Given the description of an element on the screen output the (x, y) to click on. 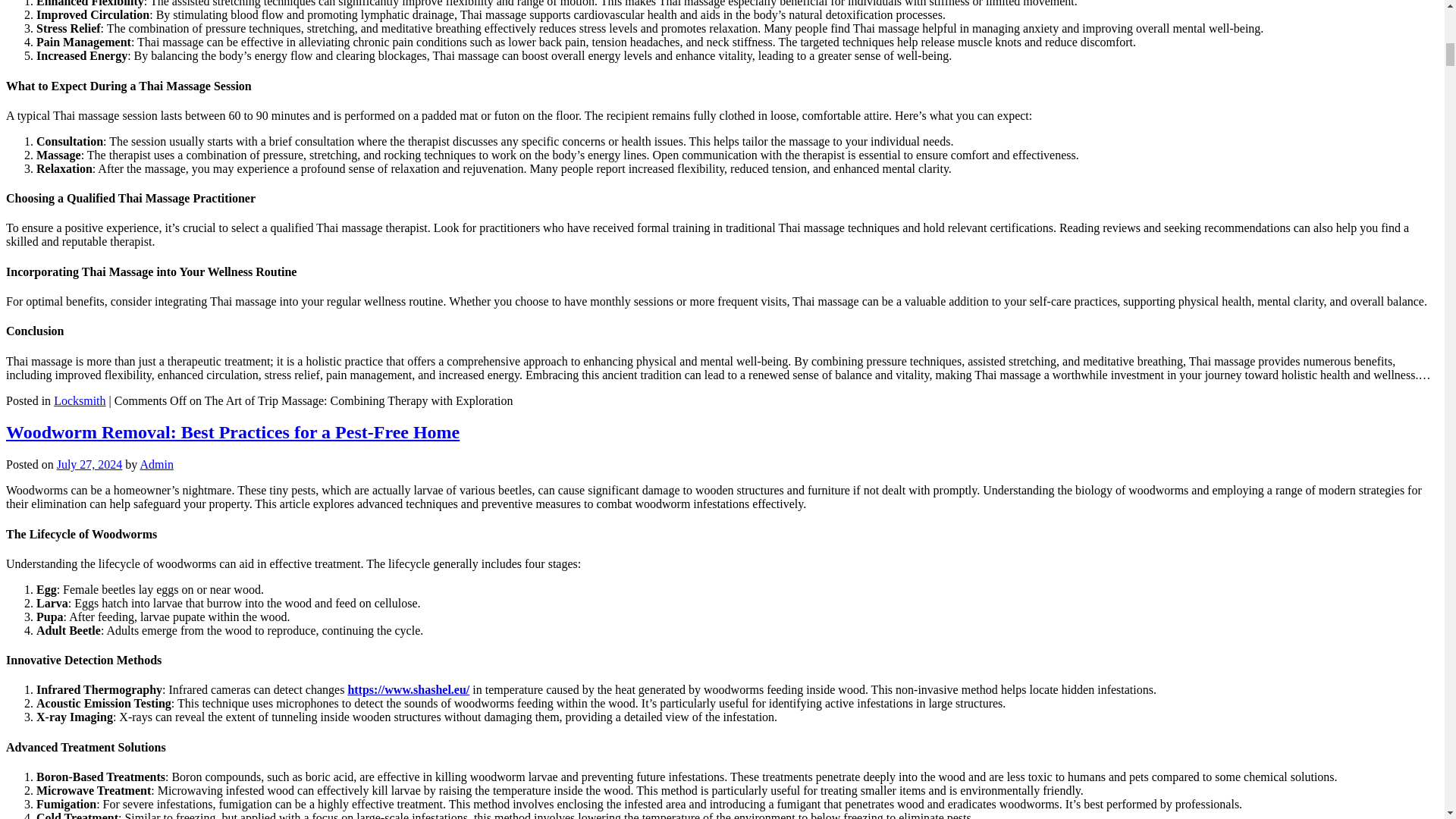
View all posts by Admin (156, 463)
Locksmith (78, 400)
Admin (156, 463)
Woodworm Removal: Best Practices for a Pest-Free Home (232, 432)
July 27, 2024 (89, 463)
